Given the description of an element on the screen output the (x, y) to click on. 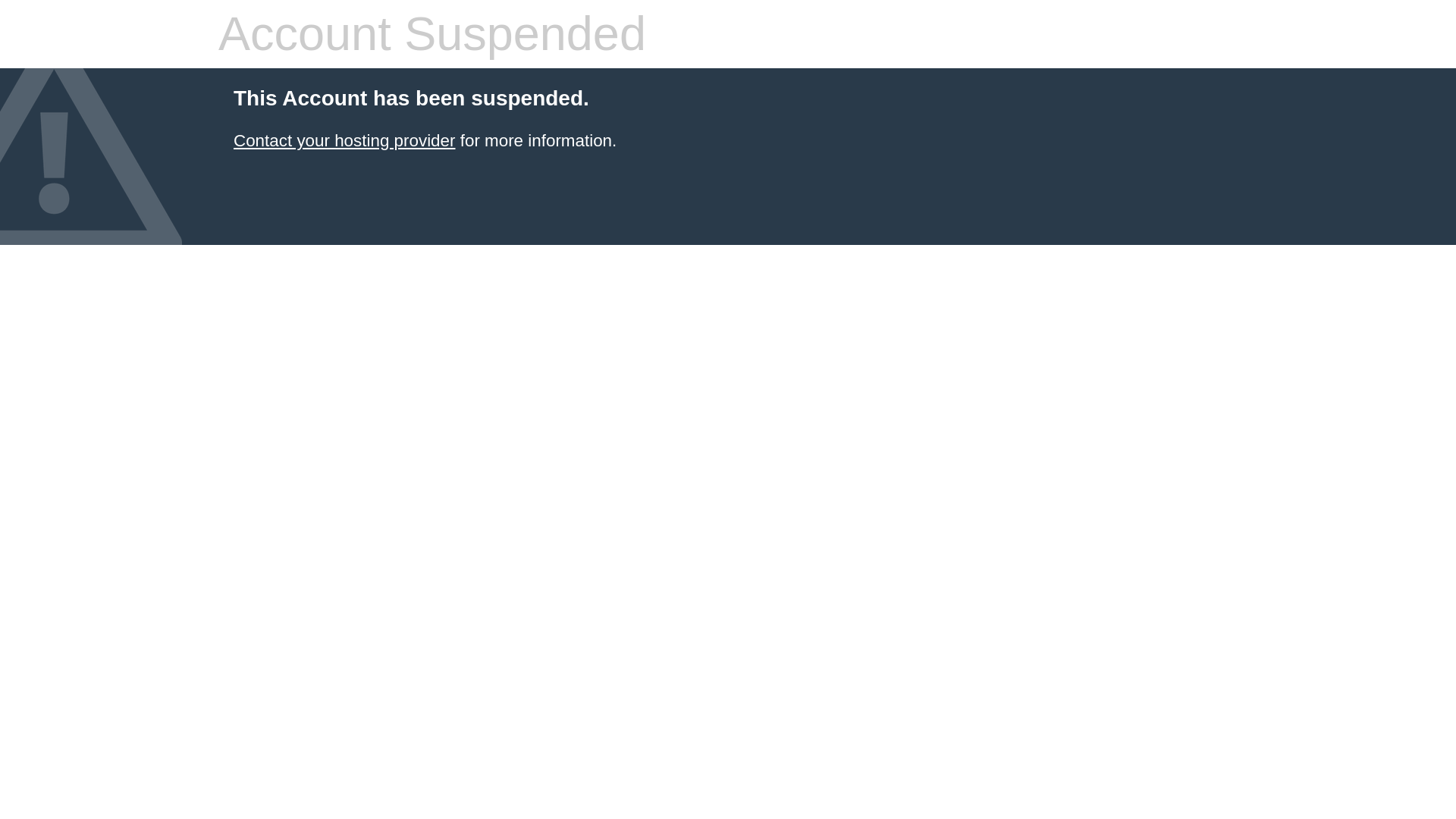
Contact your hosting provider (343, 140)
